Given the description of an element on the screen output the (x, y) to click on. 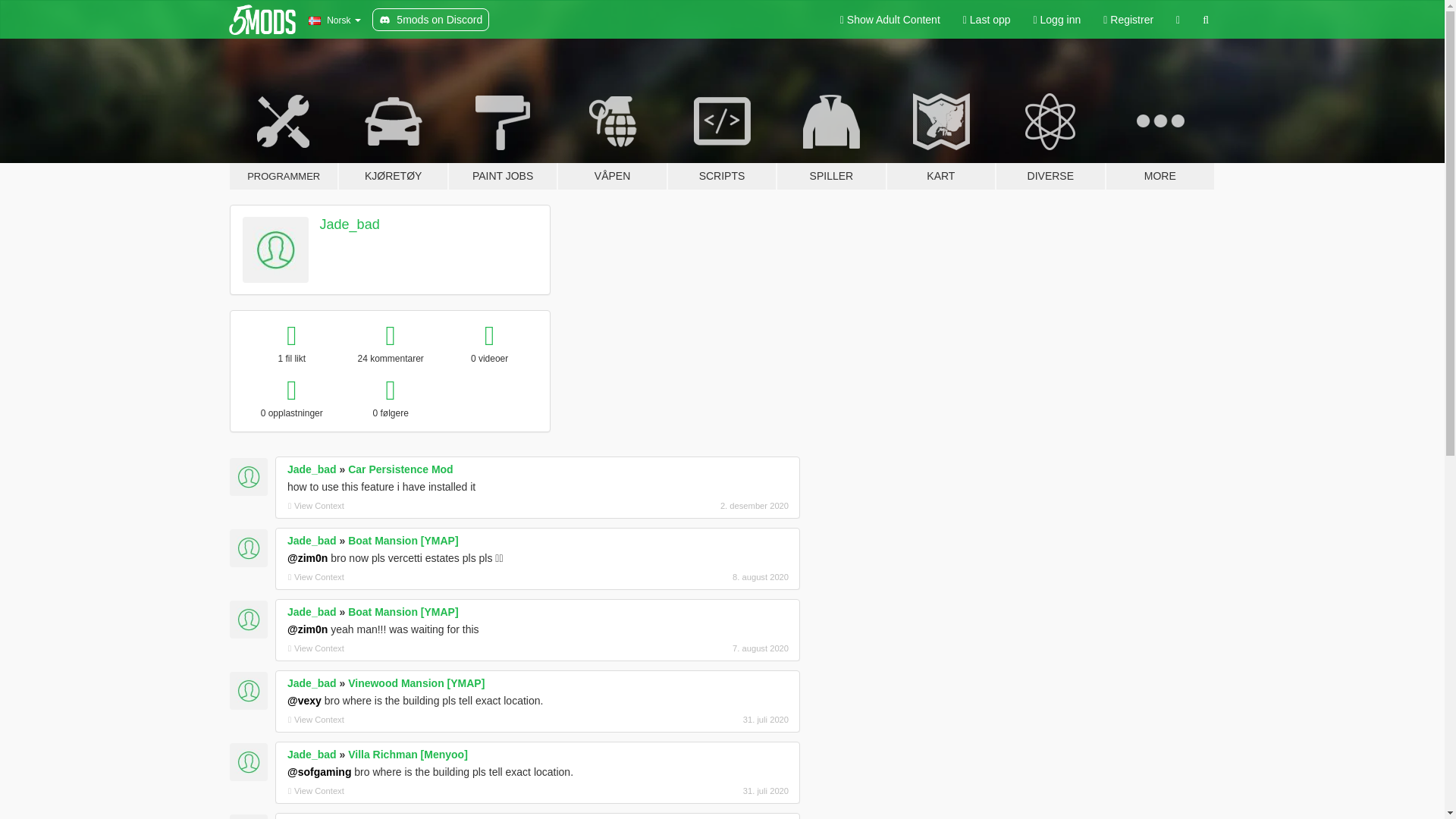
Last opp (987, 19)
fredag, 31. juli 2020, 18:41 (708, 790)
Show Adult Content (890, 19)
onsdag,  2. desember 2020, 18:08 (708, 505)
Logg inn (1057, 19)
fredag,  7. august 2020, 16:26 (708, 648)
Light mode (890, 19)
Registrer (1128, 19)
5mods on Discord (430, 19)
  Norsk (334, 19)
